Given the description of an element on the screen output the (x, y) to click on. 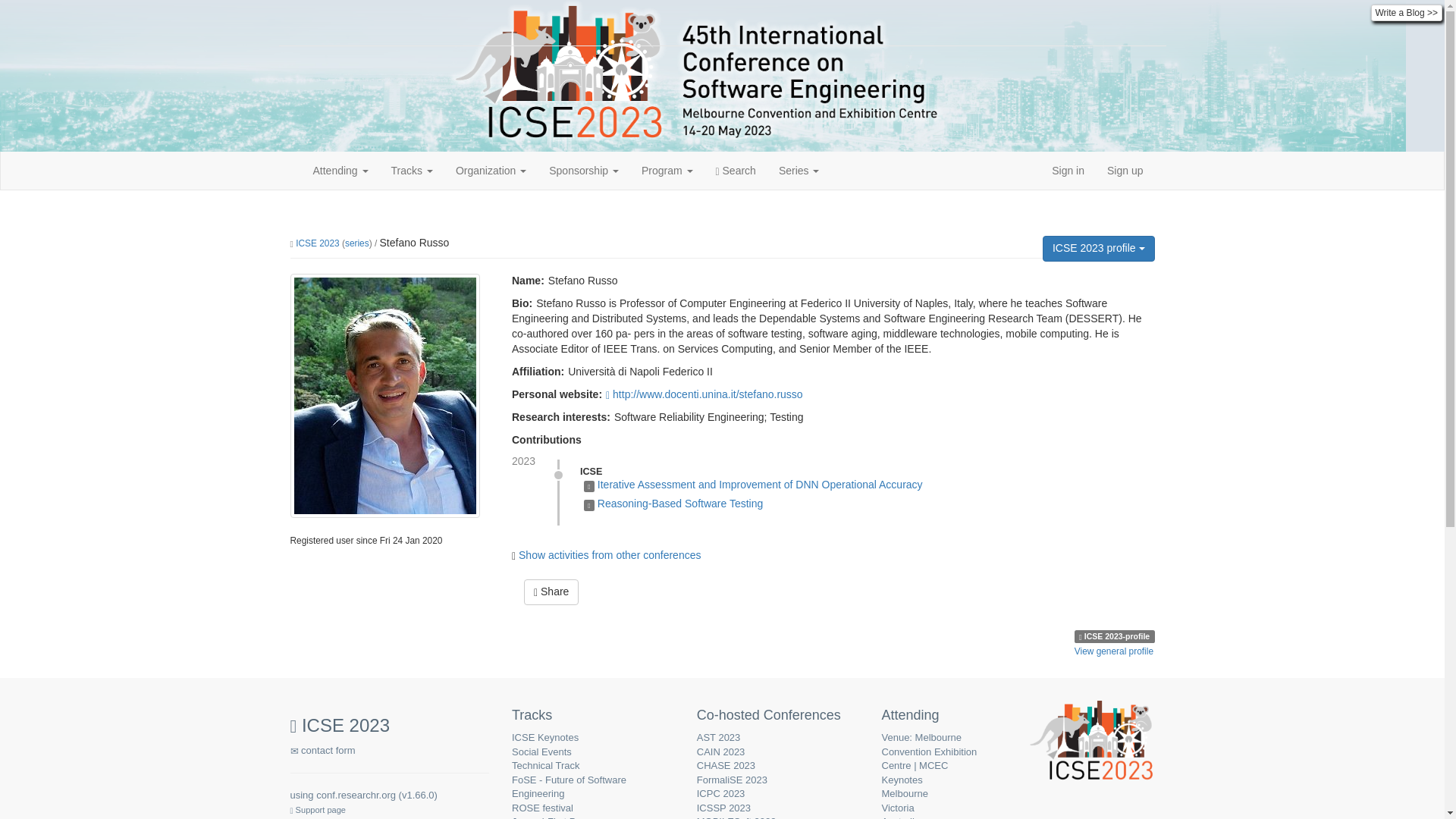
Tracks (412, 170)
Attending (340, 170)
